Given the description of an element on the screen output the (x, y) to click on. 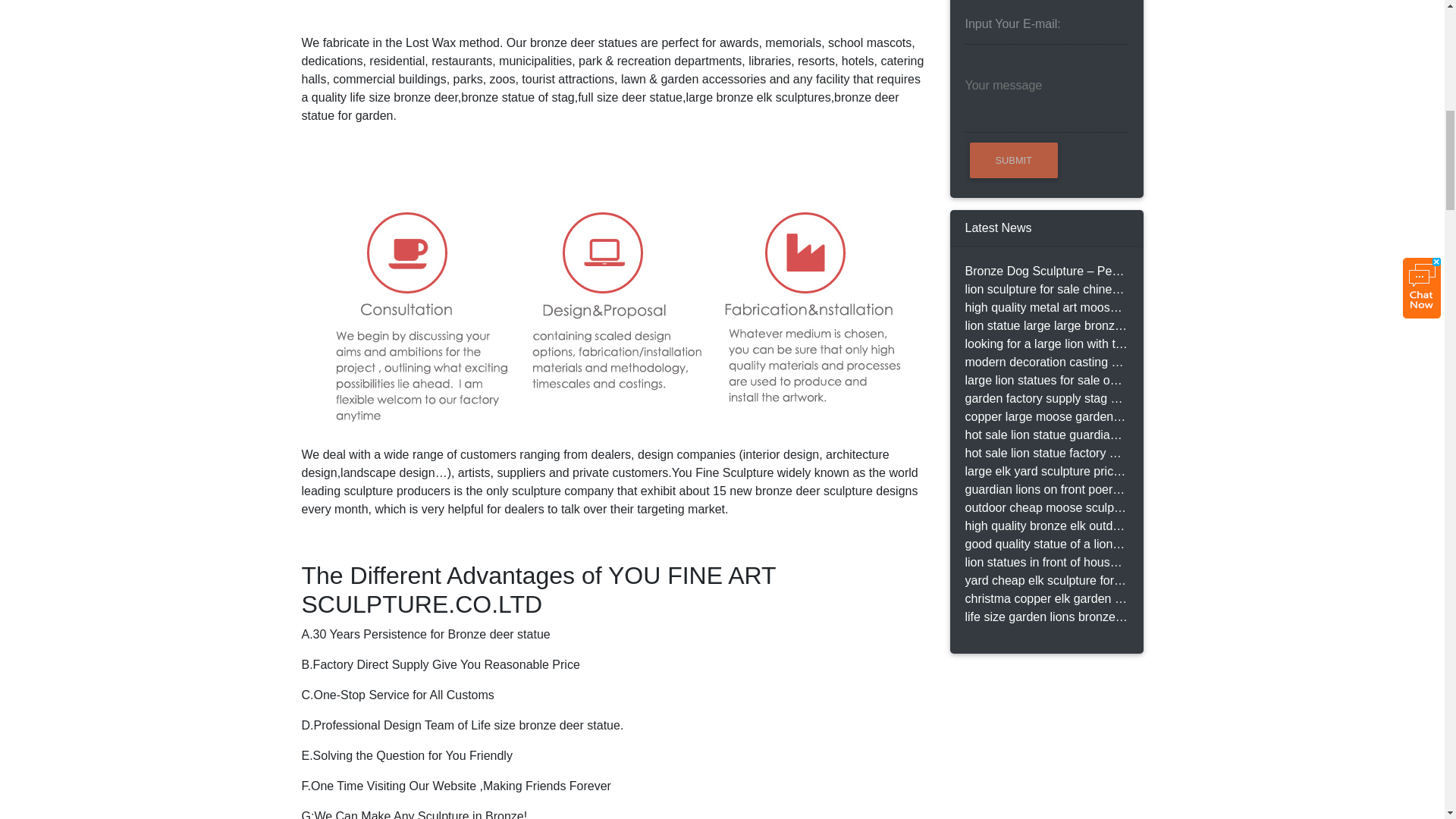
high quality bronze elk outdoor sculpture for yard (1044, 525)
hot sale lion statue factory bronze lion statues (1044, 453)
lion sculpture for sale chinese lion bronze (1044, 289)
garden factory supply stag sculpture for garden decor (1044, 398)
high quality metal art moose yard sculpture for garden decor (1044, 307)
Submit (1013, 159)
outdoor cheap moose sculpture for sale (1044, 507)
guardian lions on front poerch bronze lion sculpture (1044, 489)
